Given the description of an element on the screen output the (x, y) to click on. 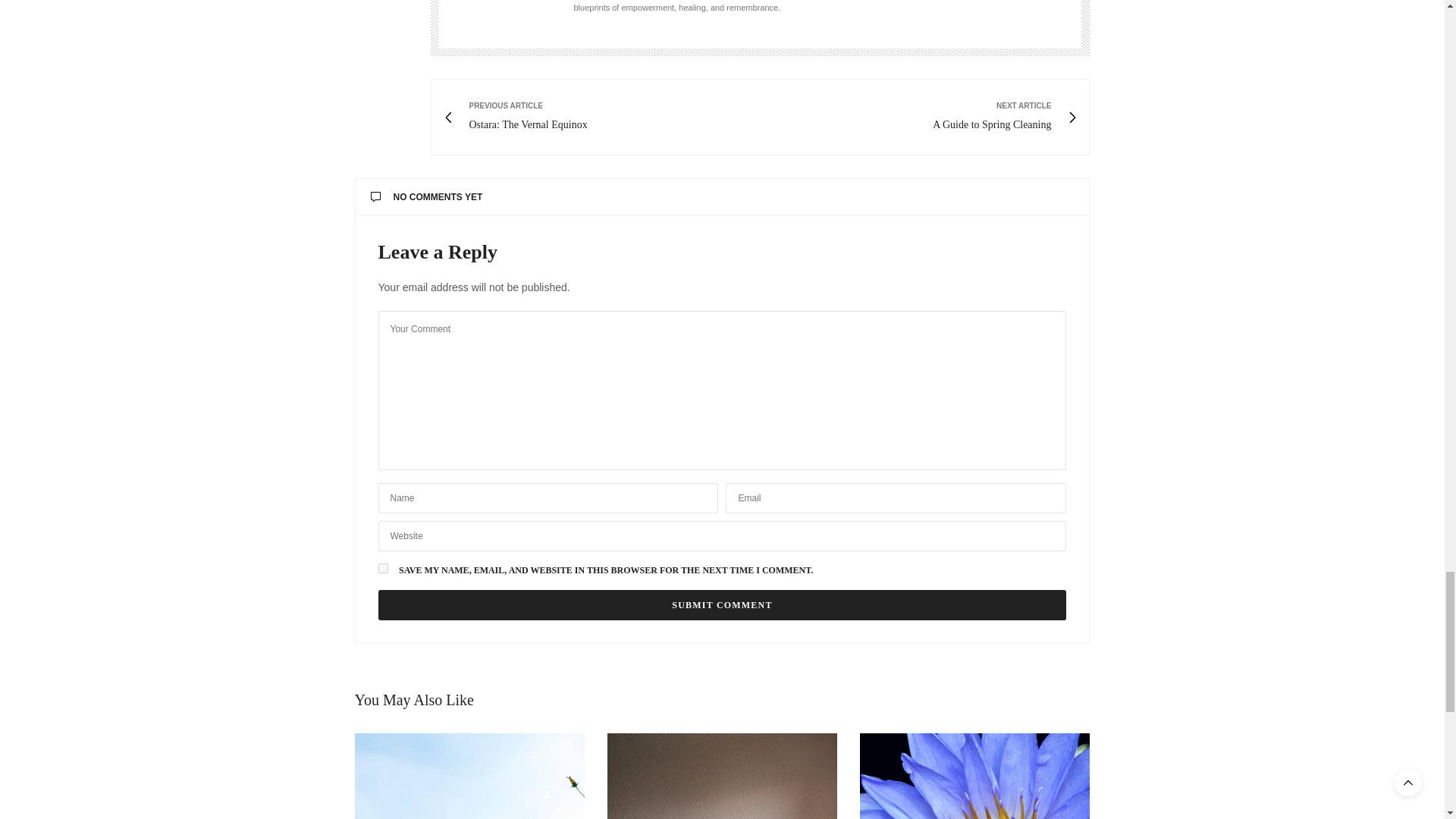
Blue Lotus: Flower of Intuitive Ascension (974, 776)
Submit Comment (721, 604)
A Guide to Spring Cleaning (722, 776)
5 Herbs to Detox with this Spring (470, 776)
yes (382, 568)
